Given the description of an element on the screen output the (x, y) to click on. 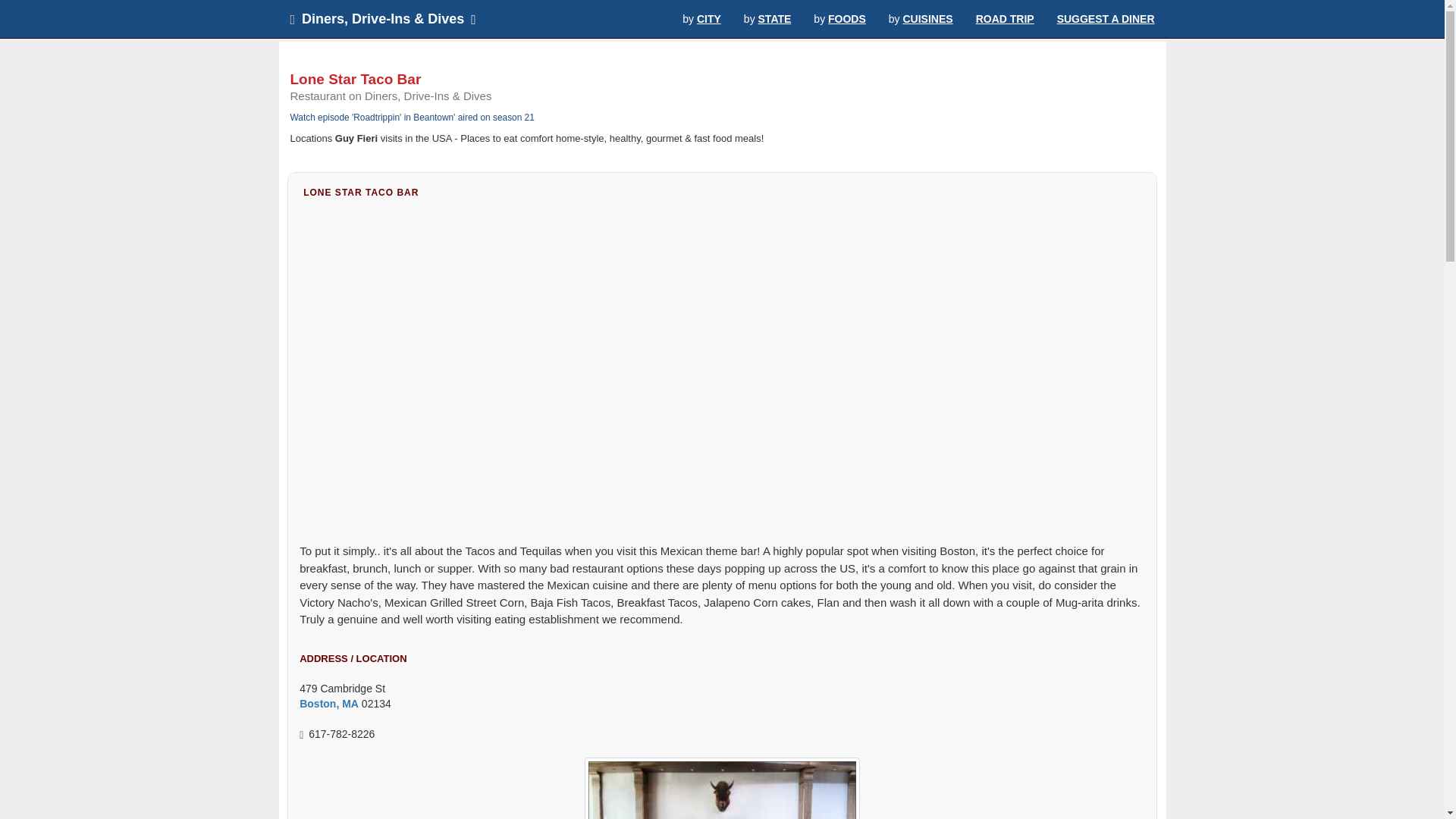
by FOODS (839, 18)
SUGGEST A DINER (1105, 18)
ROAD TRIP (1004, 18)
by STATE (767, 18)
by CUISINES (920, 18)
by CITY (701, 18)
Boston, MA (328, 703)
